Given the description of an element on the screen output the (x, y) to click on. 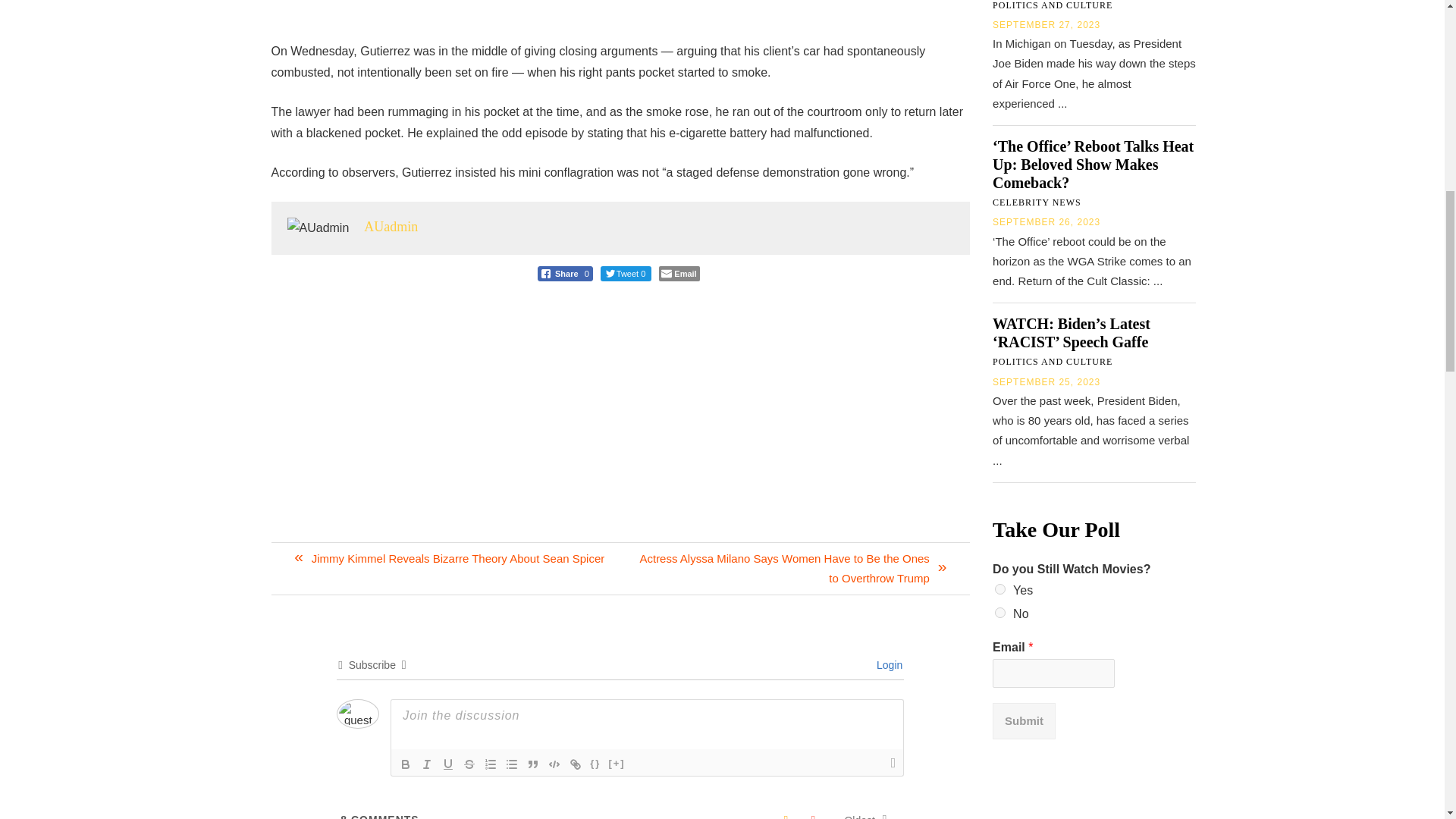
Bold (405, 764)
Unordered List (511, 764)
Email (678, 273)
Login (887, 664)
bullet (511, 764)
Share 0 (564, 273)
Blockquote (532, 764)
Code Block (553, 764)
Underline (448, 764)
Yes (1000, 588)
Italic (427, 764)
Strike (469, 764)
AUadmin (390, 226)
